Given the description of an element on the screen output the (x, y) to click on. 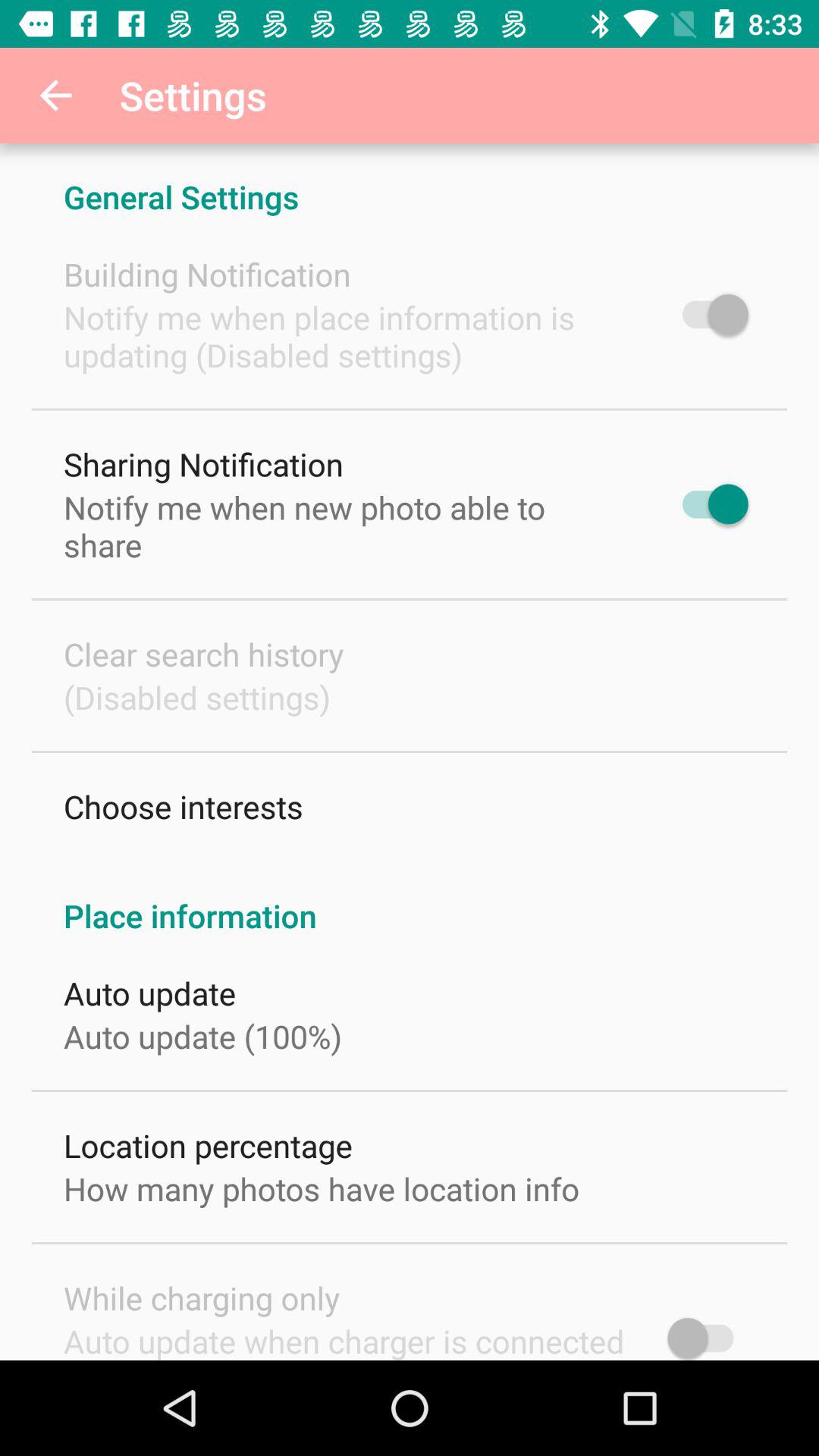
open building notification icon (206, 273)
